Given the description of an element on the screen output the (x, y) to click on. 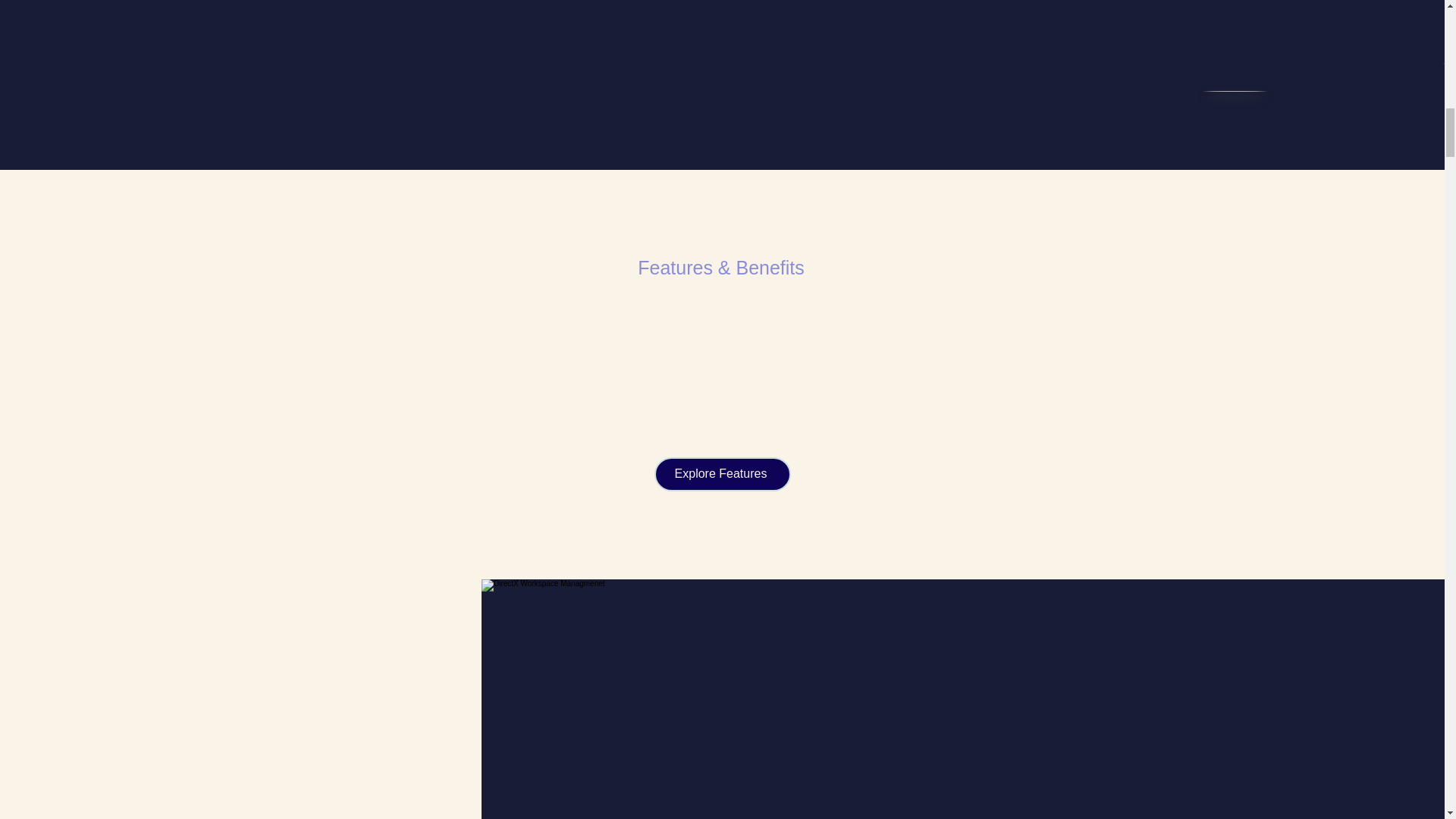
Explore Features (721, 474)
